Given the description of an element on the screen output the (x, y) to click on. 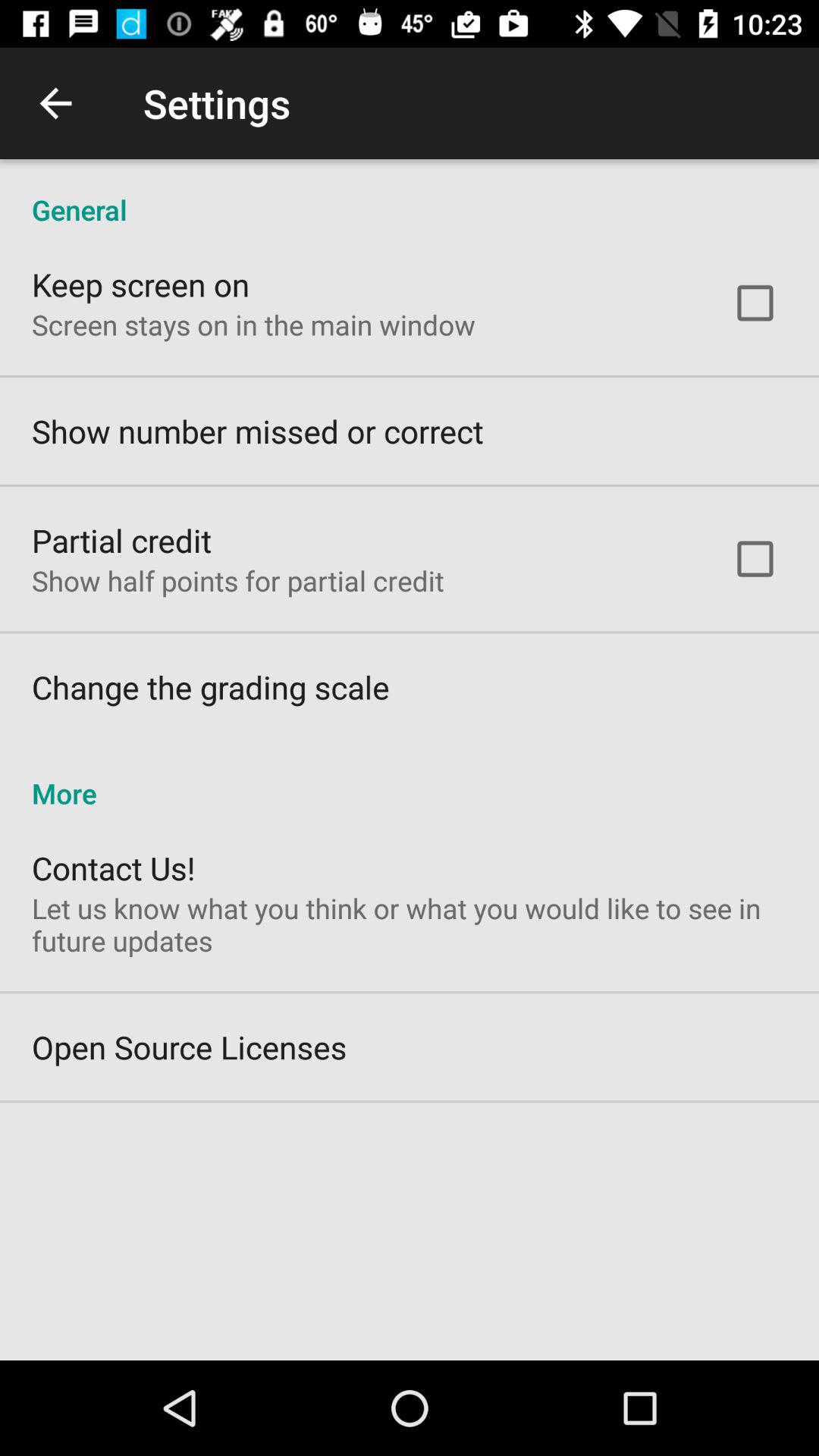
select change the grading (210, 686)
